Given the description of an element on the screen output the (x, y) to click on. 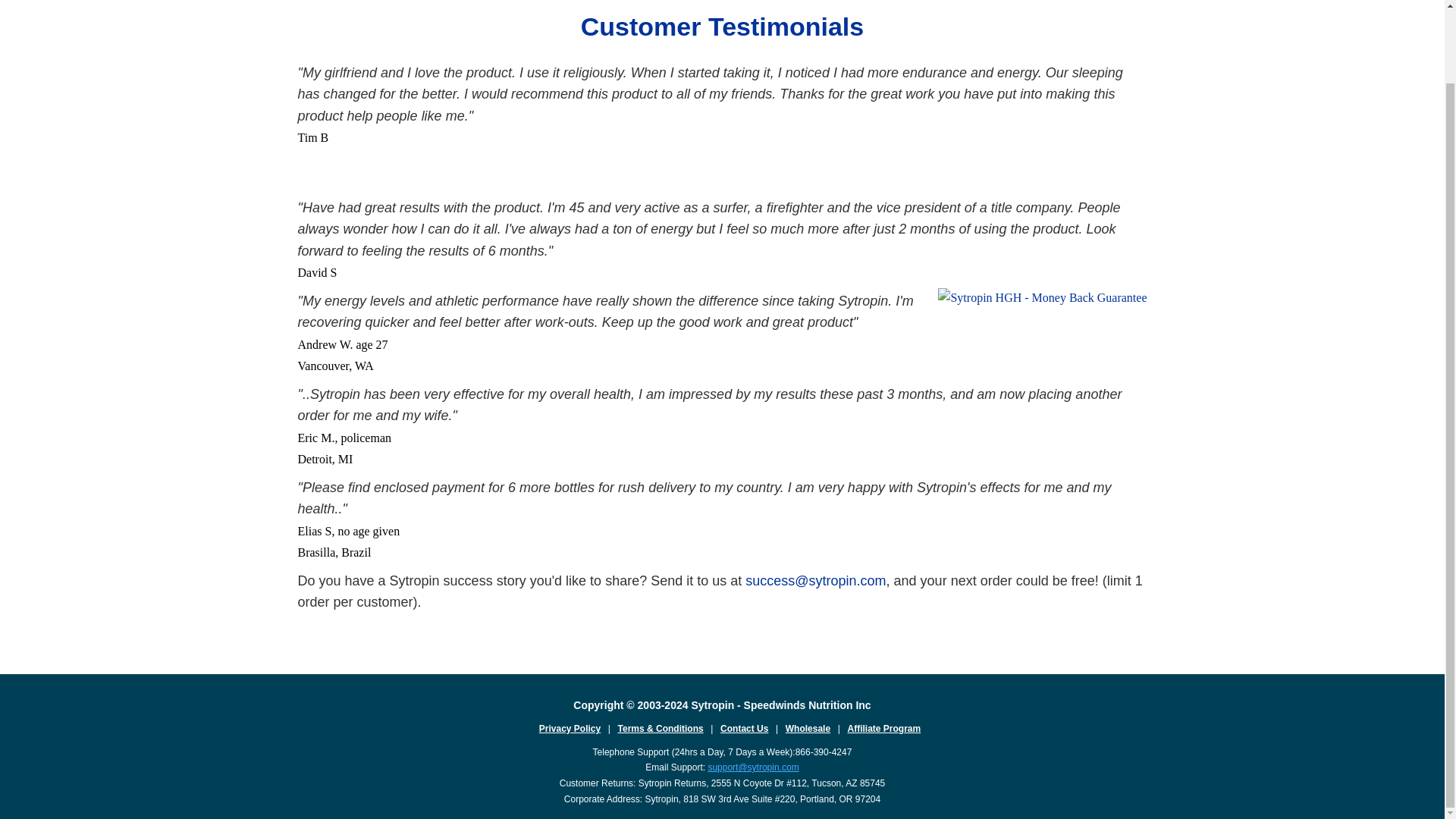
Wholesale (807, 728)
Privacy Policy (568, 728)
Support Sytropin Free Trial (752, 767)
Contact Us (744, 728)
Contact (884, 728)
Affiliate Program (884, 728)
